Given the description of an element on the screen output the (x, y) to click on. 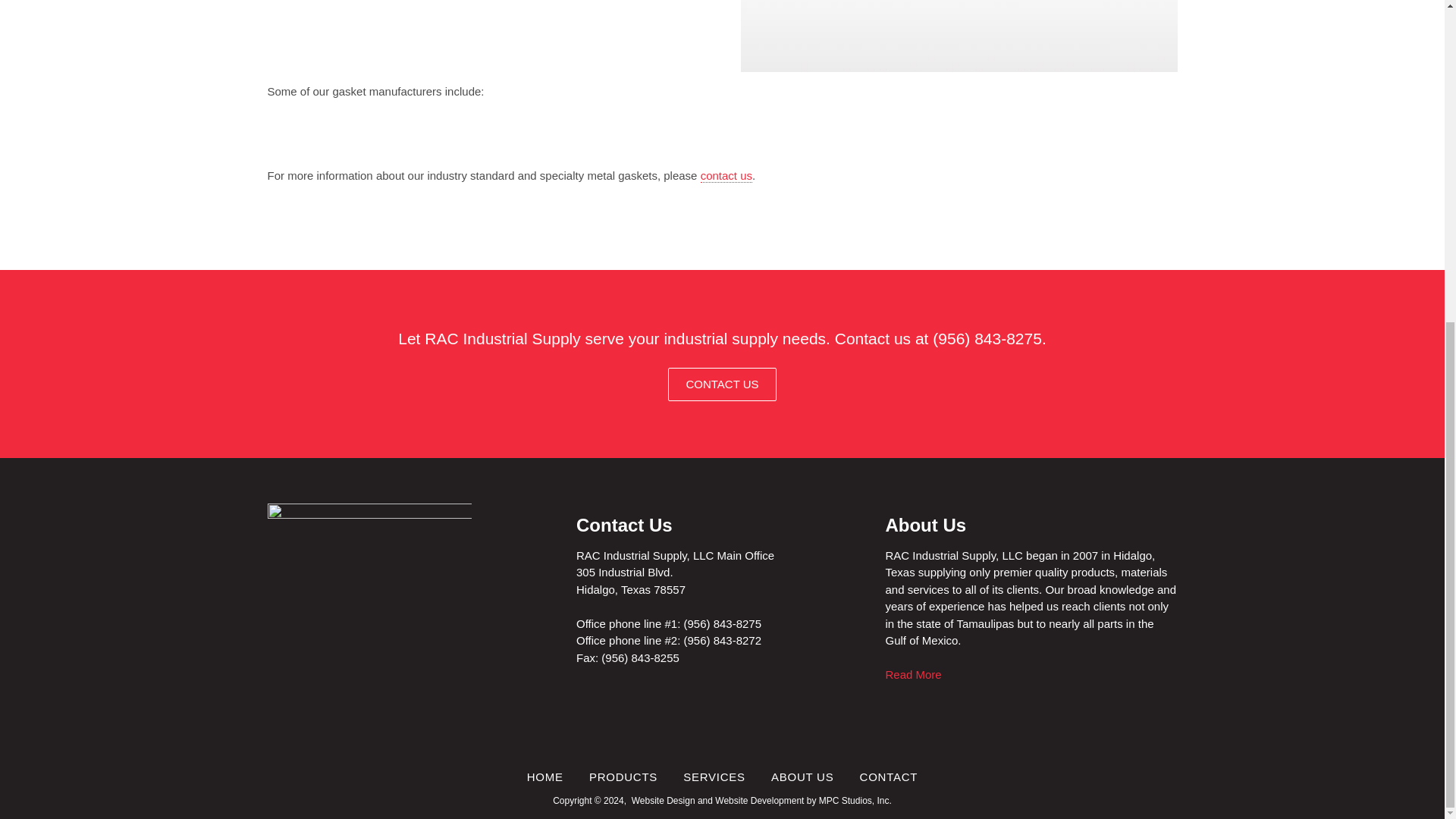
CONTACT US (722, 383)
Read More (912, 674)
SERVICES (713, 776)
HOME (545, 776)
Website Development (758, 800)
PRODUCTS (623, 776)
Website Design (663, 800)
ABOUT US (801, 776)
MPC Studios, Inc. (854, 800)
contact us (726, 175)
CONTACT (889, 776)
